Given the description of an element on the screen output the (x, y) to click on. 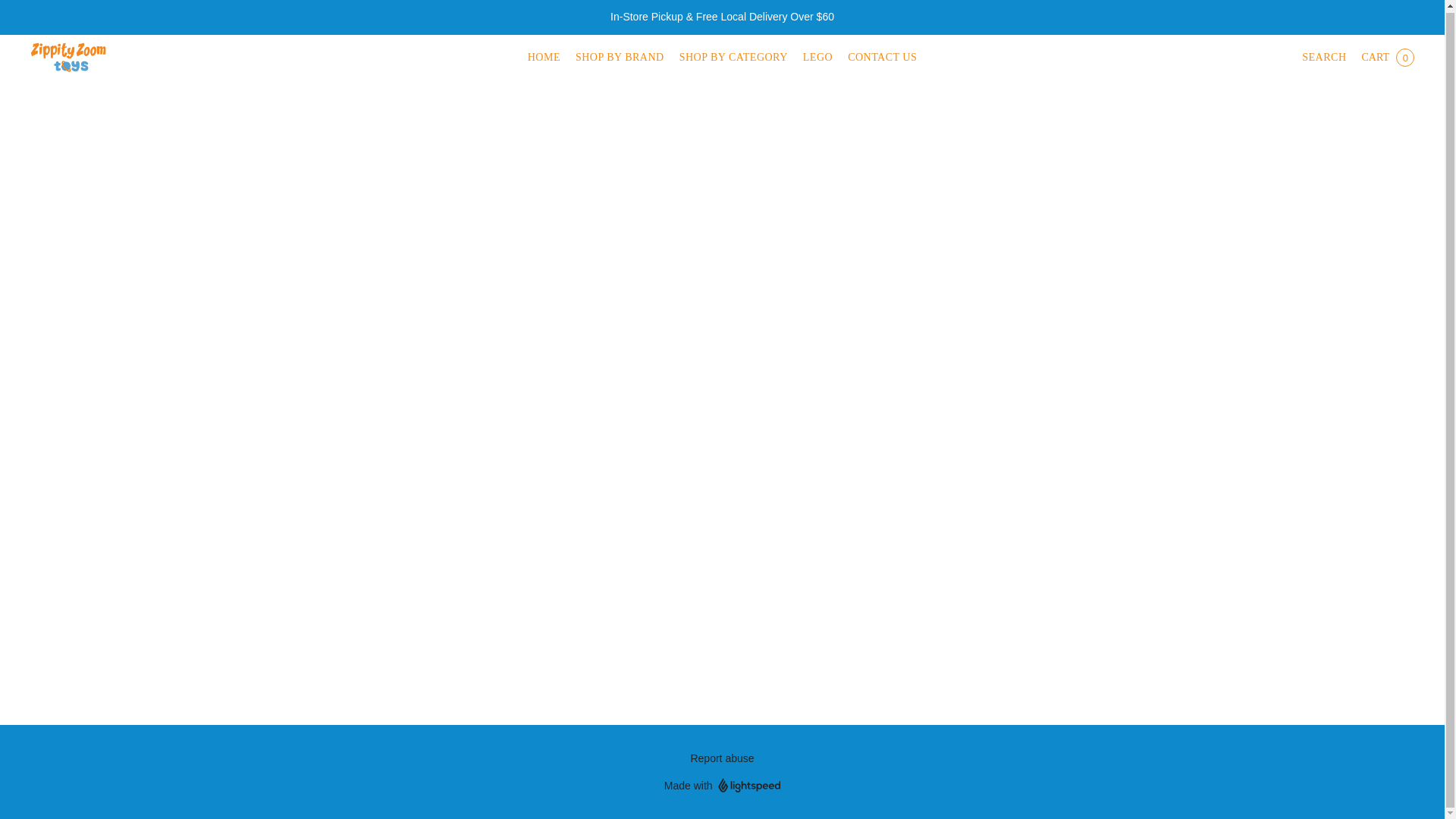
SEARCH (1323, 57)
SHOP BY CATEGORY (732, 57)
CONTACT US (878, 57)
Made with (721, 785)
HOME (547, 57)
Go to your shopping cart (1387, 57)
CART (1387, 57)
Search the website (1323, 57)
Report abuse (722, 758)
SHOP BY BRAND (619, 57)
LEGO (817, 57)
